Given the description of an element on the screen output the (x, y) to click on. 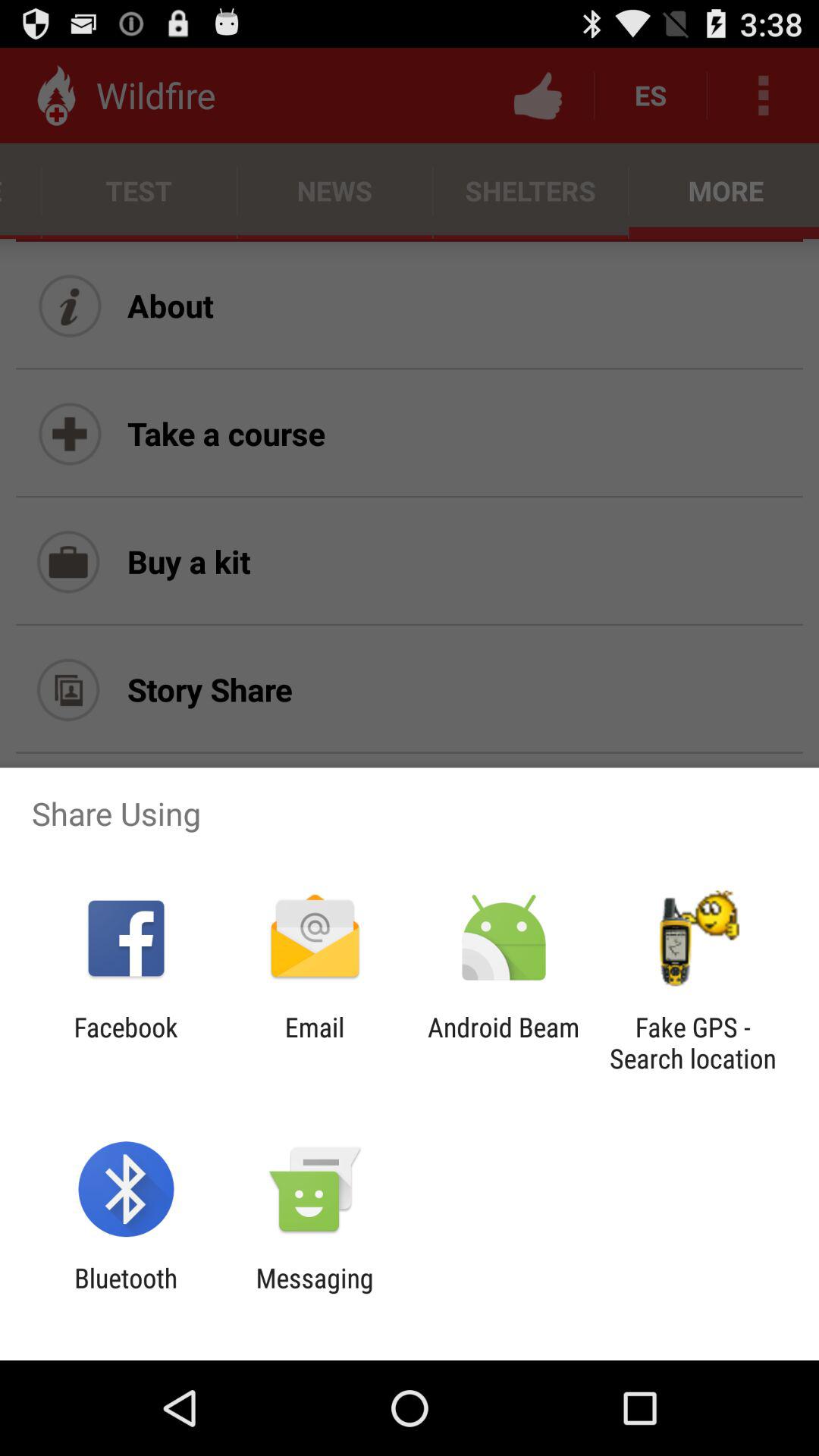
select the app to the right of the facebook app (314, 1042)
